Given the description of an element on the screen output the (x, y) to click on. 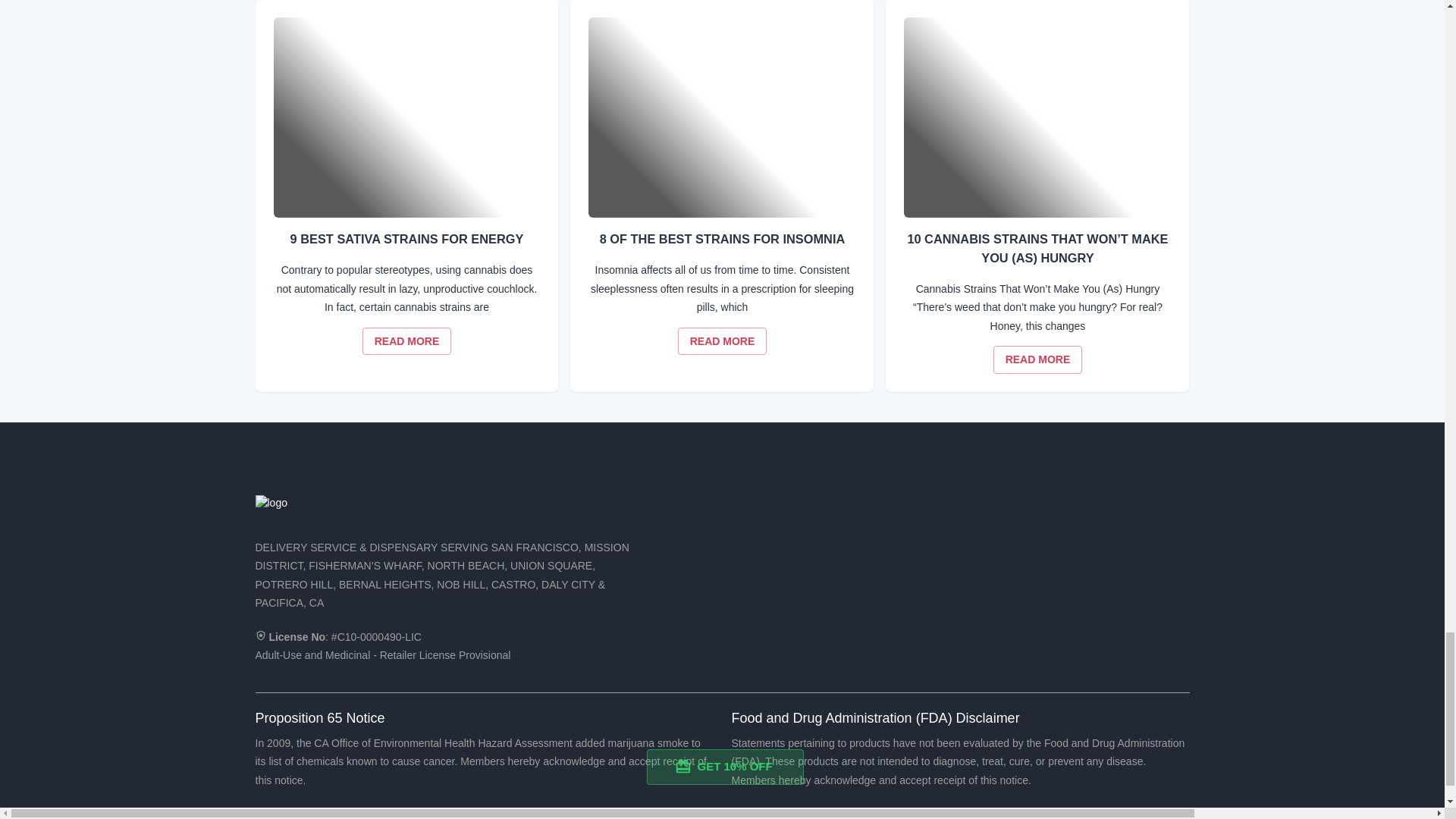
READ 9 BEST SATIVA STRAINS FOR ENERGY (406, 341)
9 BEST SATIVA STRAINS FOR ENERGY (406, 117)
8 OF THE BEST STRAINS FOR INSOMNIA (722, 117)
READ 8 OF THE BEST STRAINS FOR INSOMNIA (722, 341)
